Given the description of an element on the screen output the (x, y) to click on. 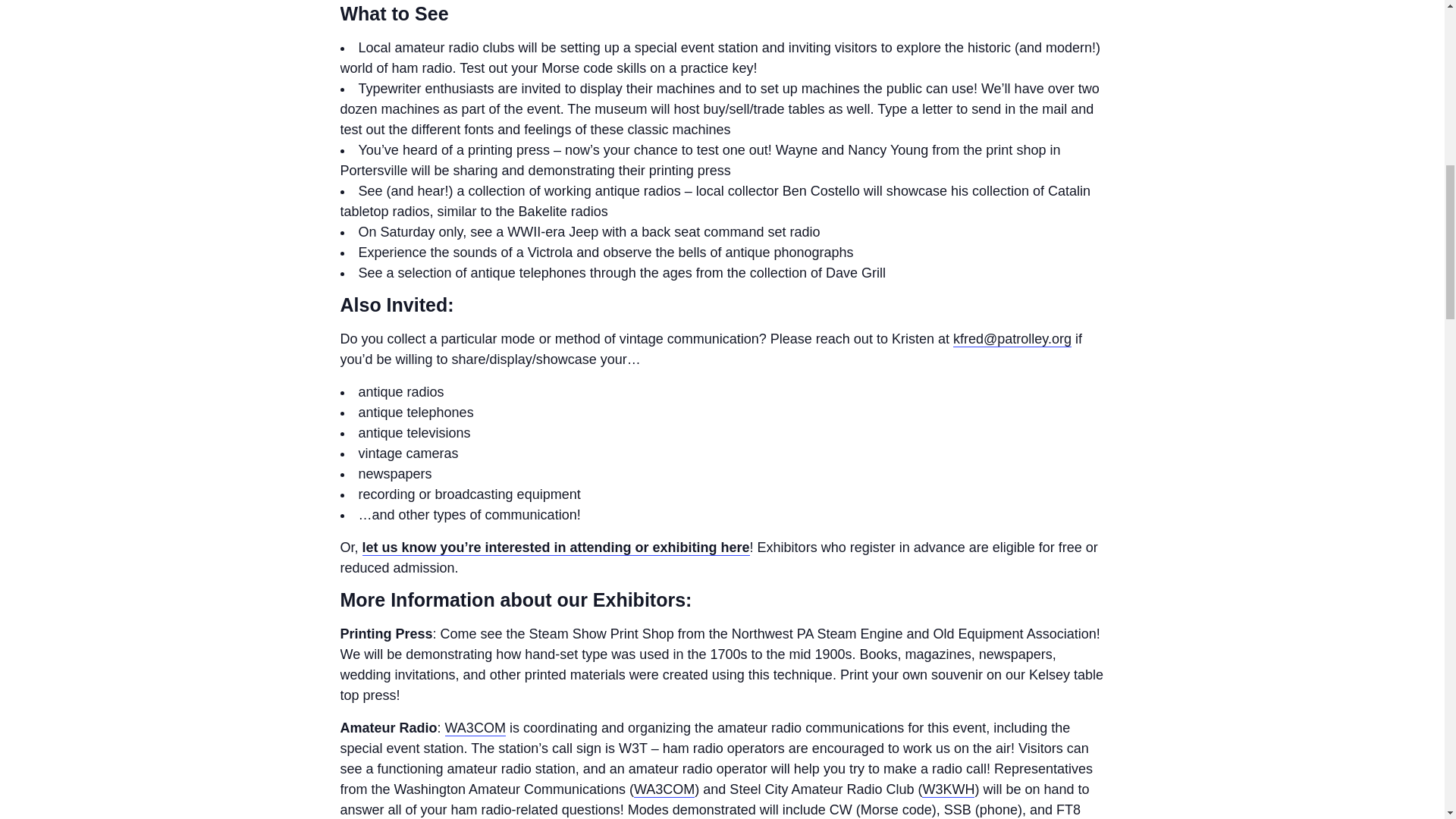
WA3COM (475, 728)
W3KWH (947, 789)
WA3COM (663, 789)
